Given the description of an element on the screen output the (x, y) to click on. 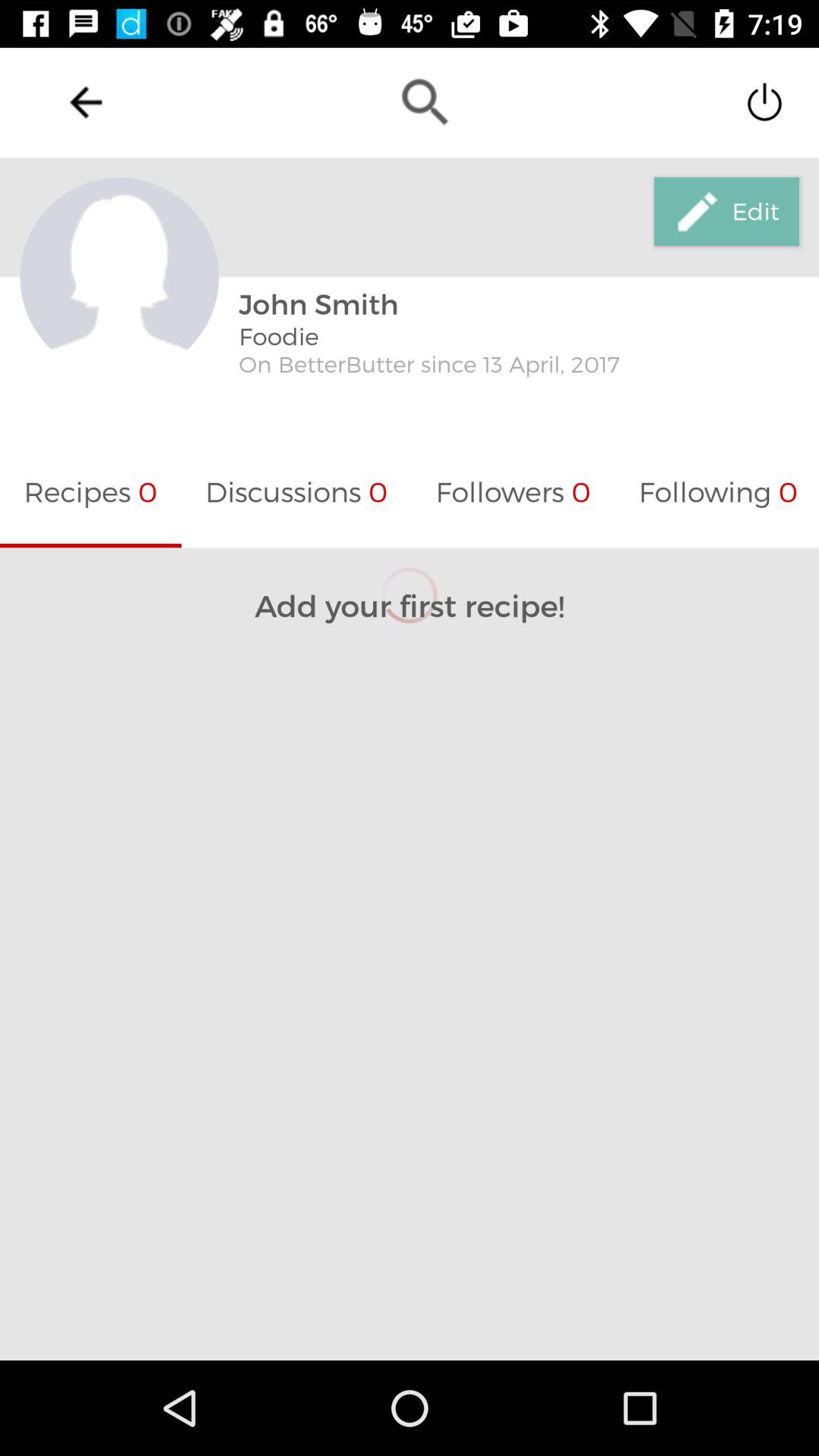
press edit icon (726, 211)
